Given the description of an element on the screen output the (x, y) to click on. 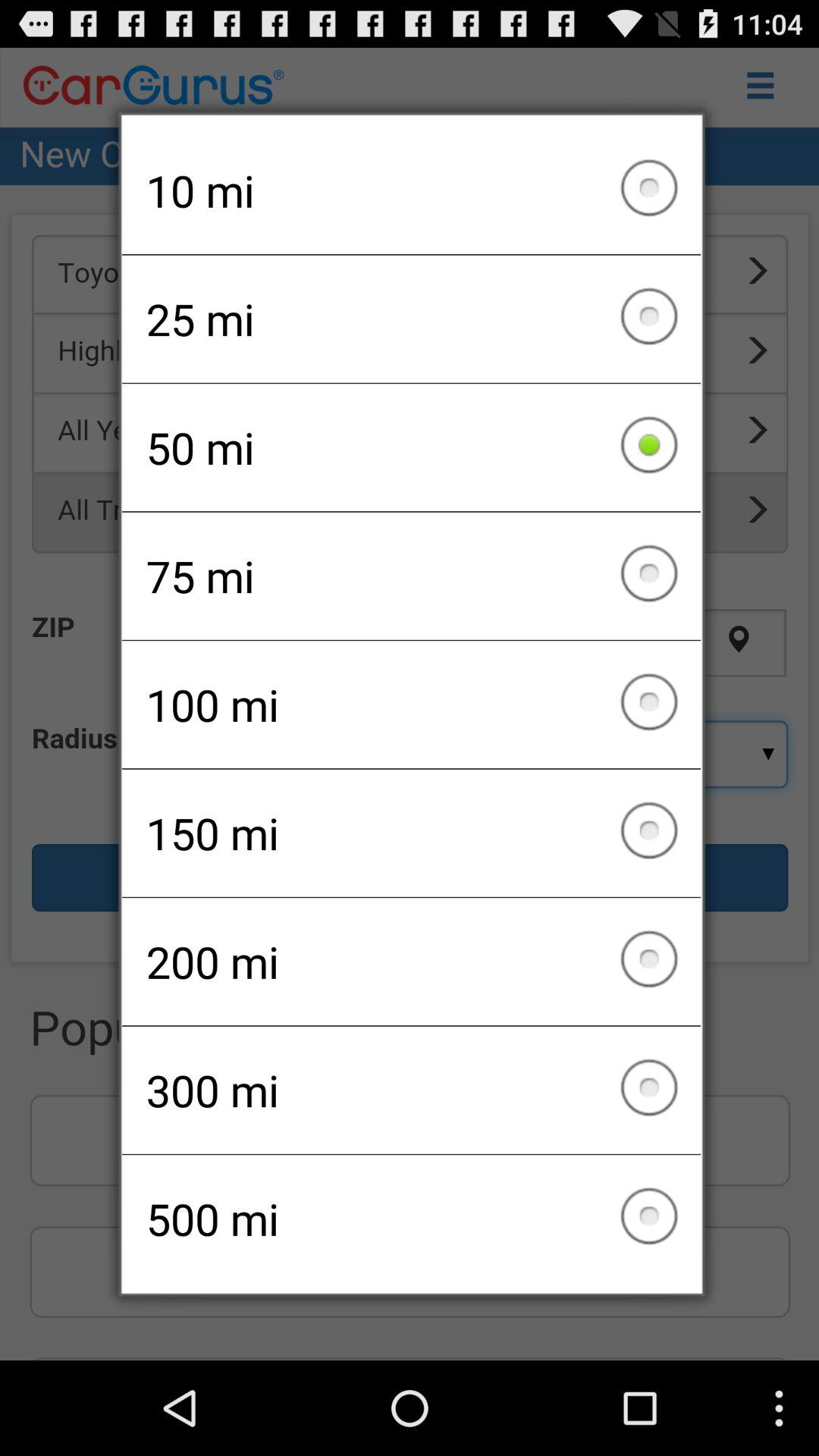
press 100 mi icon (411, 704)
